Given the description of an element on the screen output the (x, y) to click on. 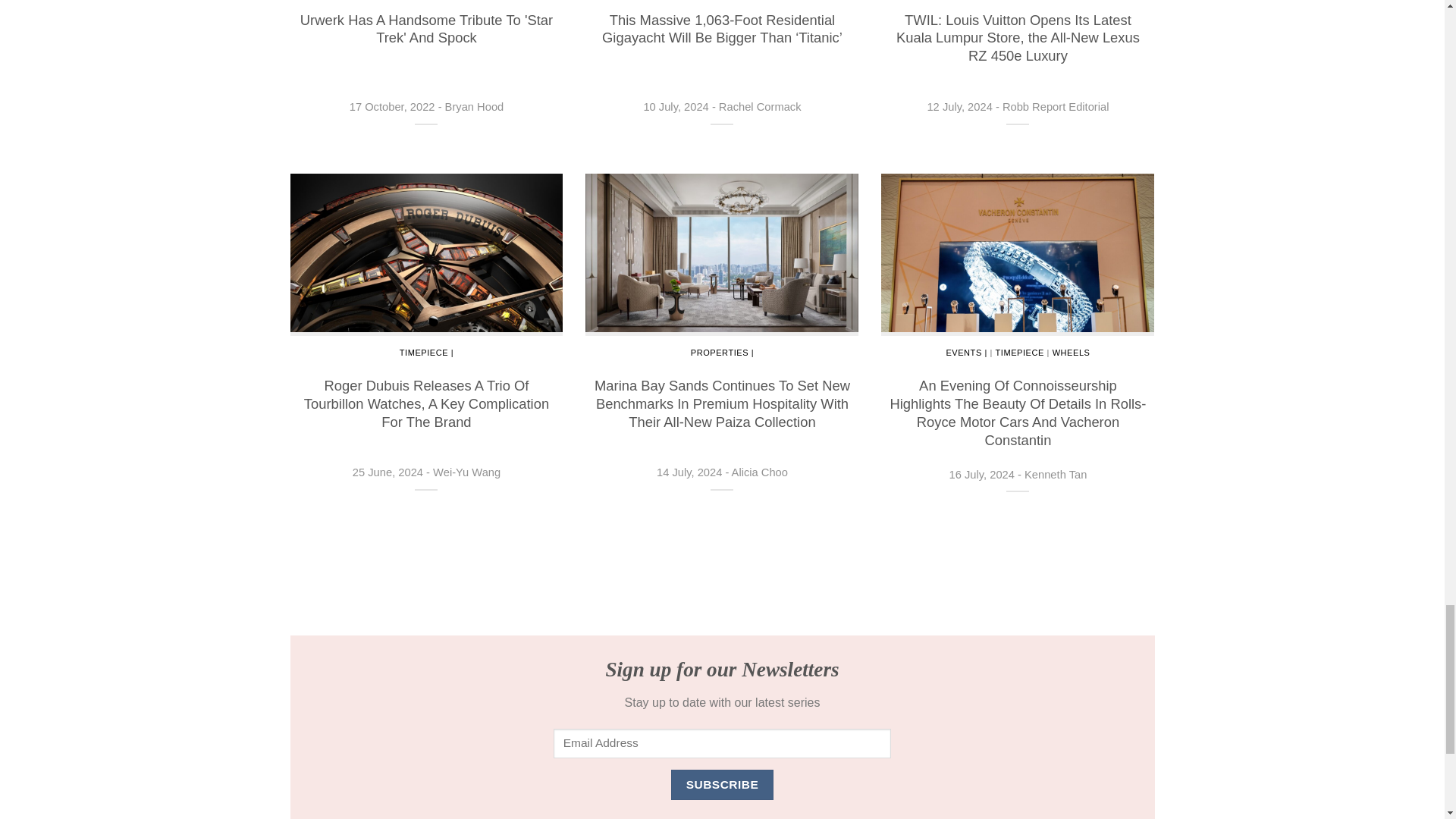
Subscribe (722, 784)
